Given the description of an element on the screen output the (x, y) to click on. 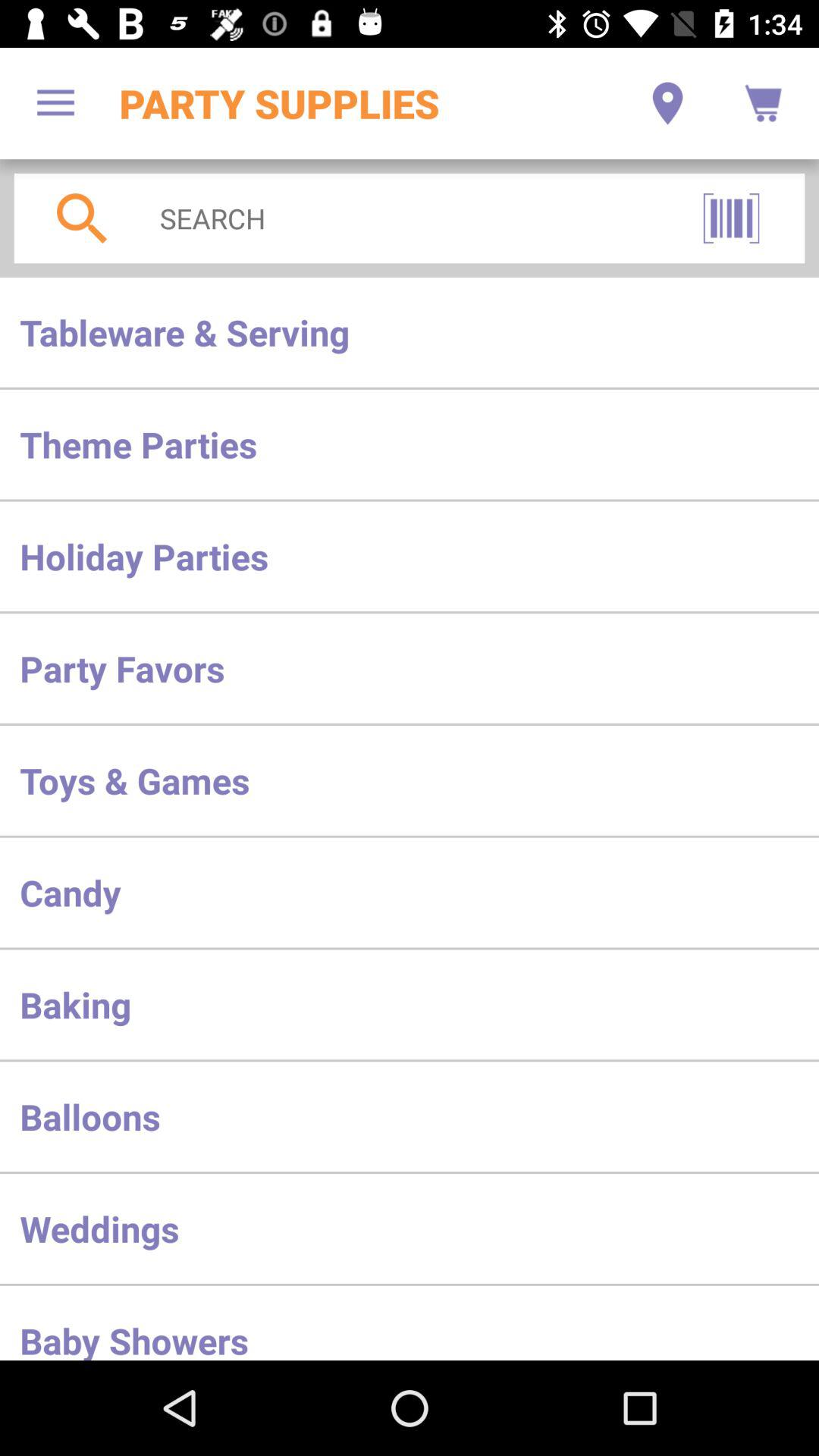
click the item next to the party supplies item (55, 103)
